Given the description of an element on the screen output the (x, y) to click on. 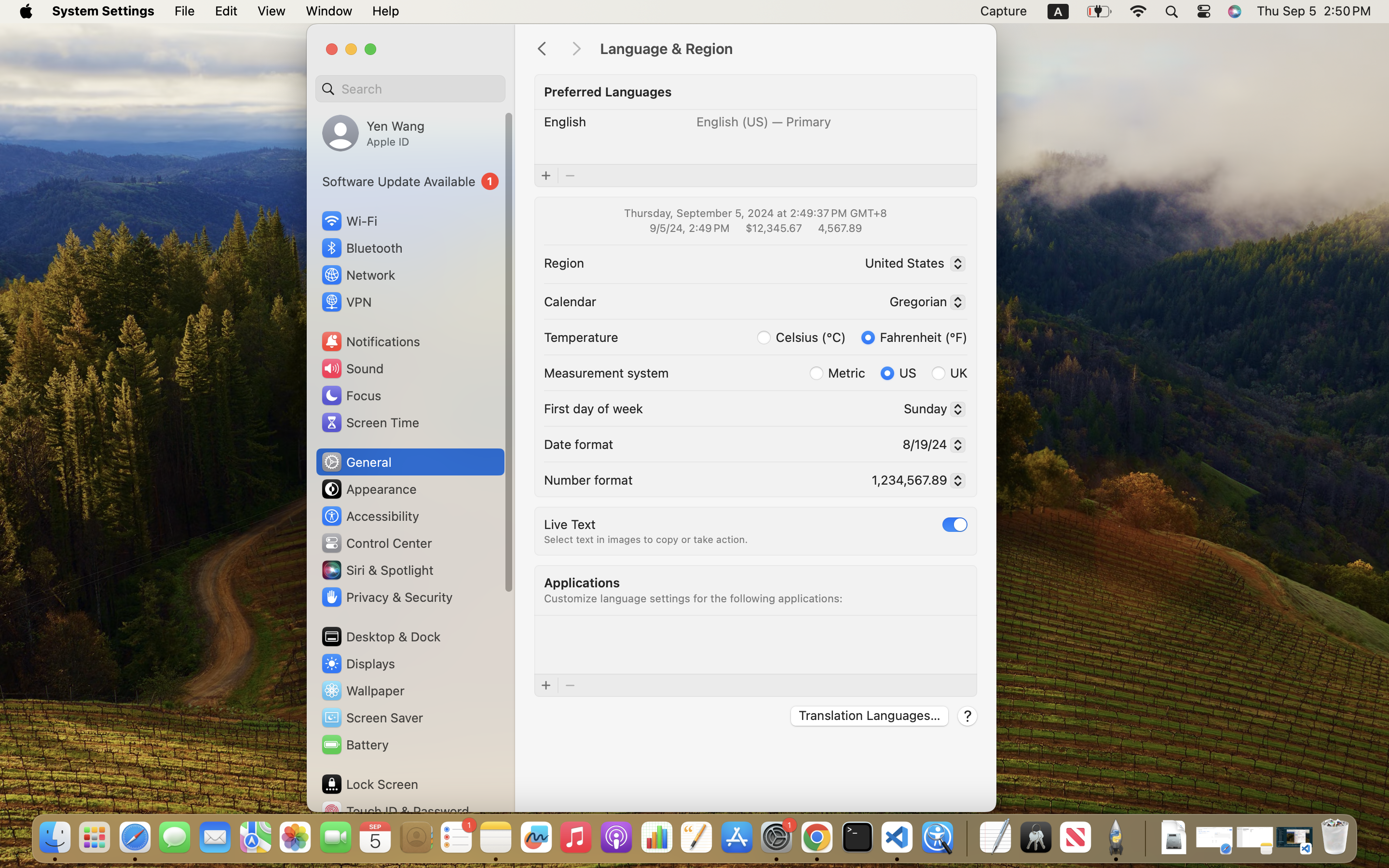
Battery Element type: AXStaticText (354, 744)
Appearance Element type: AXStaticText (368, 488)
Touch ID & Password Element type: AXStaticText (394, 810)
